Given the description of an element on the screen output the (x, y) to click on. 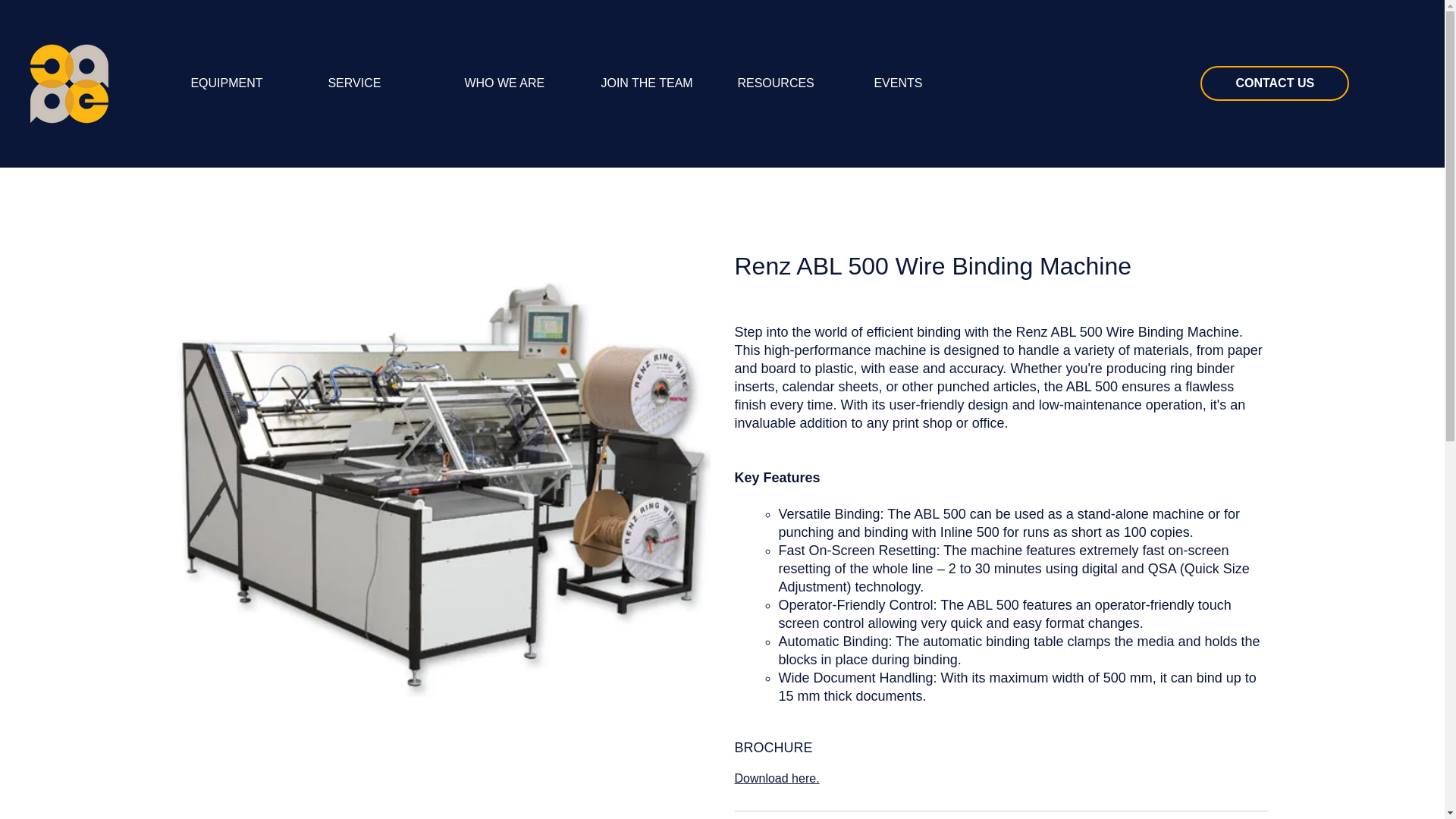
WHO WE ARE (520, 83)
EVENTS (929, 83)
EQUIPMENT (247, 83)
SERVICE (383, 83)
CONTACT US (1274, 83)
JOIN THE TEAM (657, 83)
Download here. (775, 778)
